Given the description of an element on the screen output the (x, y) to click on. 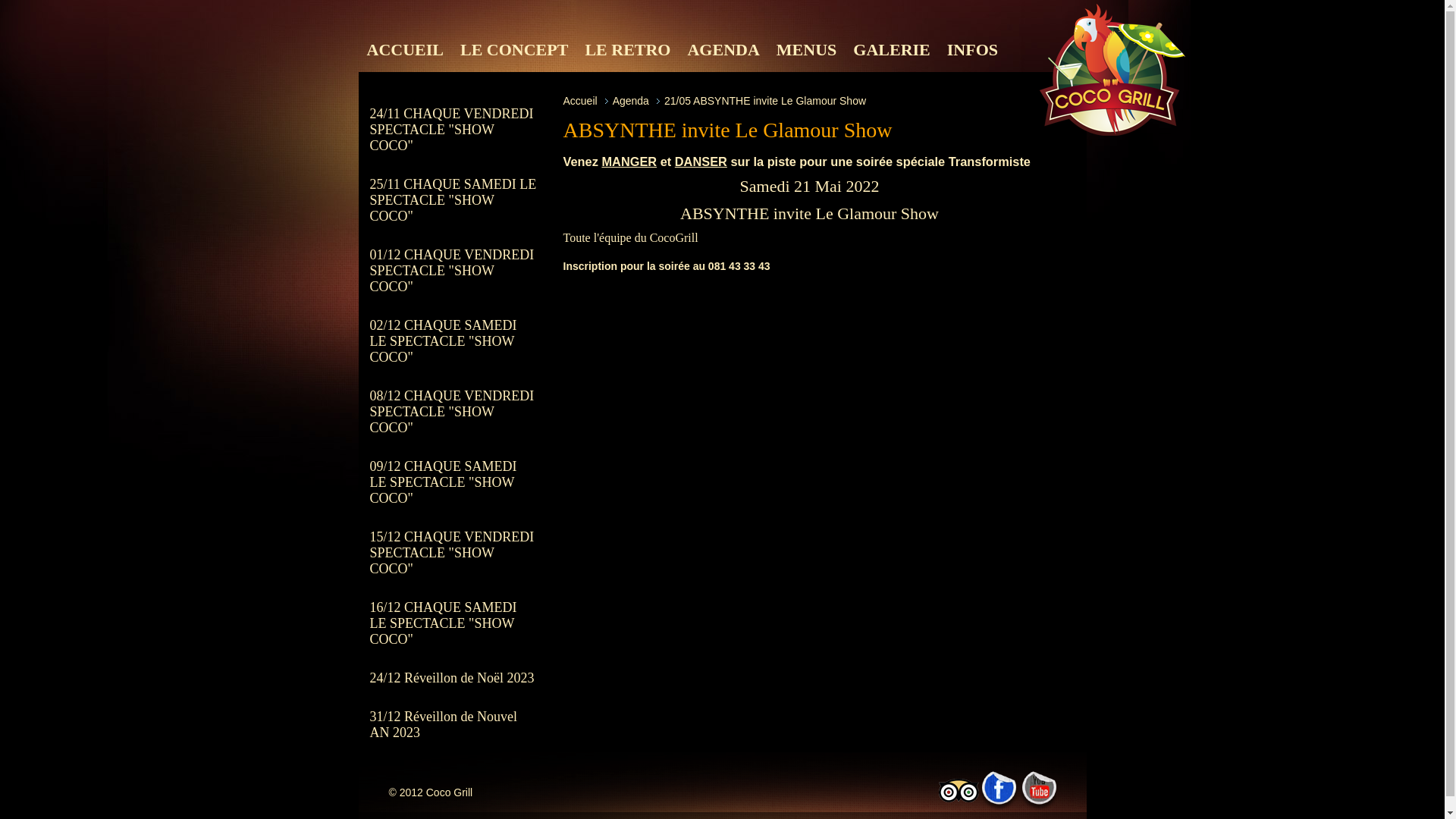
LE RETRO Element type: text (627, 49)
24/11 CHAQUE VENDREDI SPECTACLE "SHOW COCO" Element type: text (452, 129)
GALERIE Element type: text (891, 49)
15/12 CHAQUE VENDREDI SPECTACLE "SHOW COCO" Element type: text (452, 552)
01/12 CHAQUE VENDREDI SPECTACLE "SHOW COCO" Element type: text (452, 270)
16/12 CHAQUE SAMEDI LE SPECTACLE "SHOW COCO" Element type: text (452, 623)
AGENDA Element type: text (723, 49)
Accueil Element type: text (579, 100)
INFOS Element type: text (972, 49)
ACCUEIL Element type: text (405, 49)
Agenda Element type: text (630, 100)
09/12 CHAQUE SAMEDI LE SPECTACLE "SHOW COCO" Element type: text (452, 482)
MENUS Element type: text (806, 49)
LE CONCEPT Element type: text (513, 49)
25/11 CHAQUE SAMEDI LE SPECTACLE "SHOW COCO" Element type: text (452, 200)
08/12 CHAQUE VENDREDI SPECTACLE "SHOW COCO" Element type: text (452, 411)
02/12 CHAQUE SAMEDI LE SPECTACLE "SHOW COCO" Element type: text (452, 341)
